Given the description of an element on the screen output the (x, y) to click on. 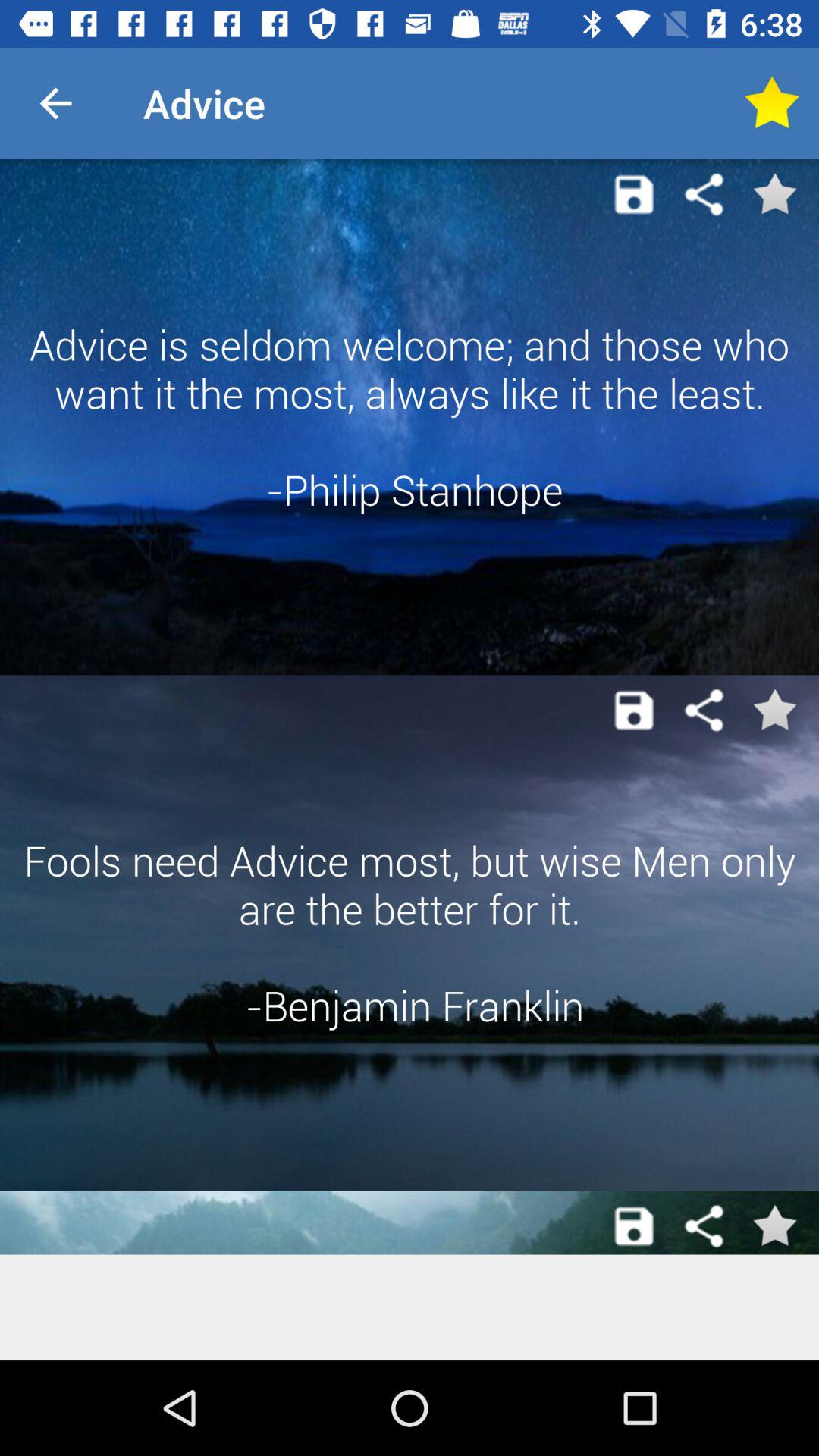
share button (704, 710)
